Given the description of an element on the screen output the (x, y) to click on. 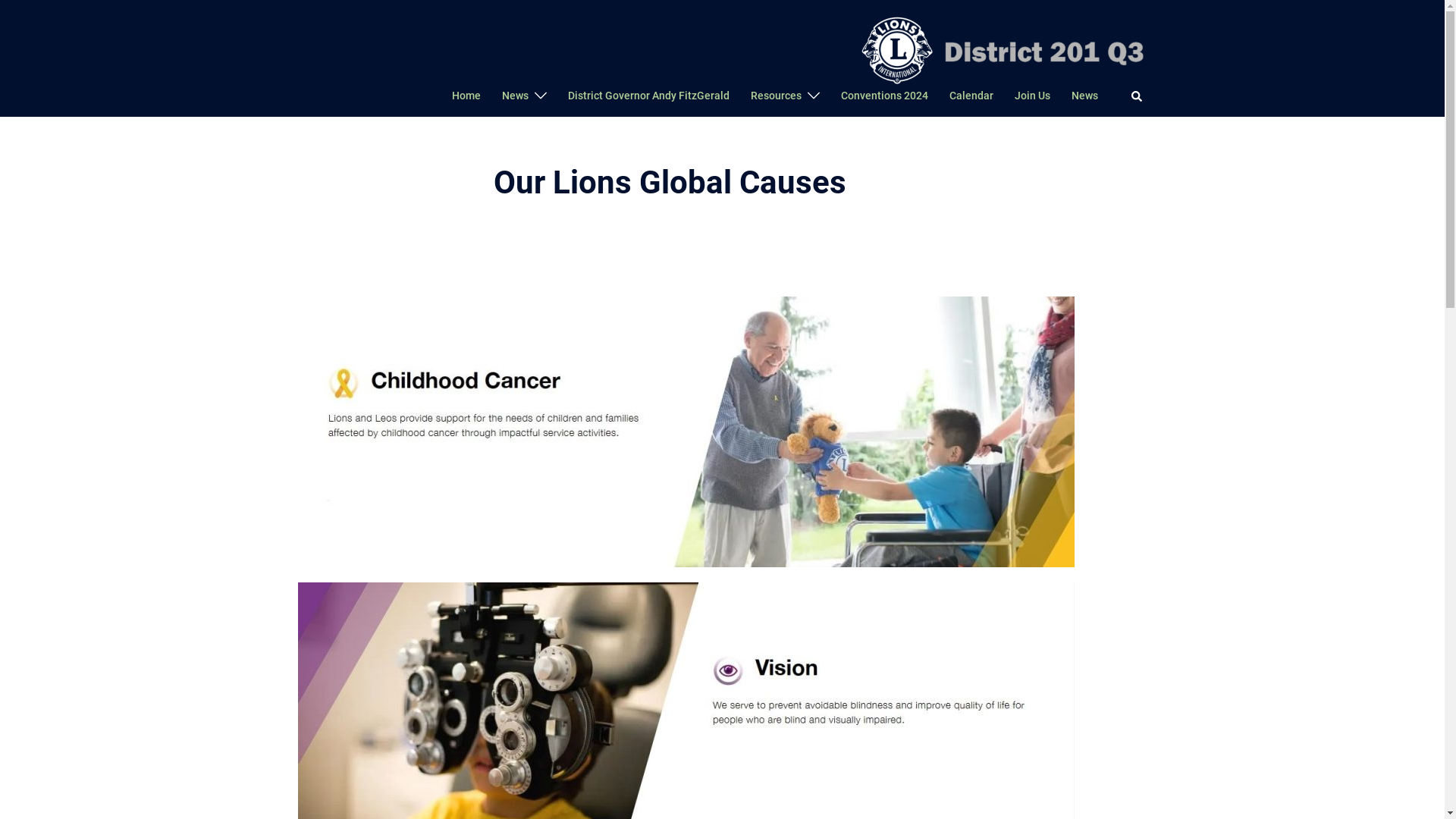
News Element type: text (1083, 96)
Calendar Element type: text (971, 96)
Join Us Element type: text (1032, 96)
Conventions 2024 Element type: text (883, 96)
Home Element type: text (465, 96)
Resources Element type: text (775, 96)
District 201 Q3 Element type: hover (999, 47)
News Element type: text (515, 96)
District Governor Andy FitzGerald Element type: text (647, 96)
